Given the description of an element on the screen output the (x, y) to click on. 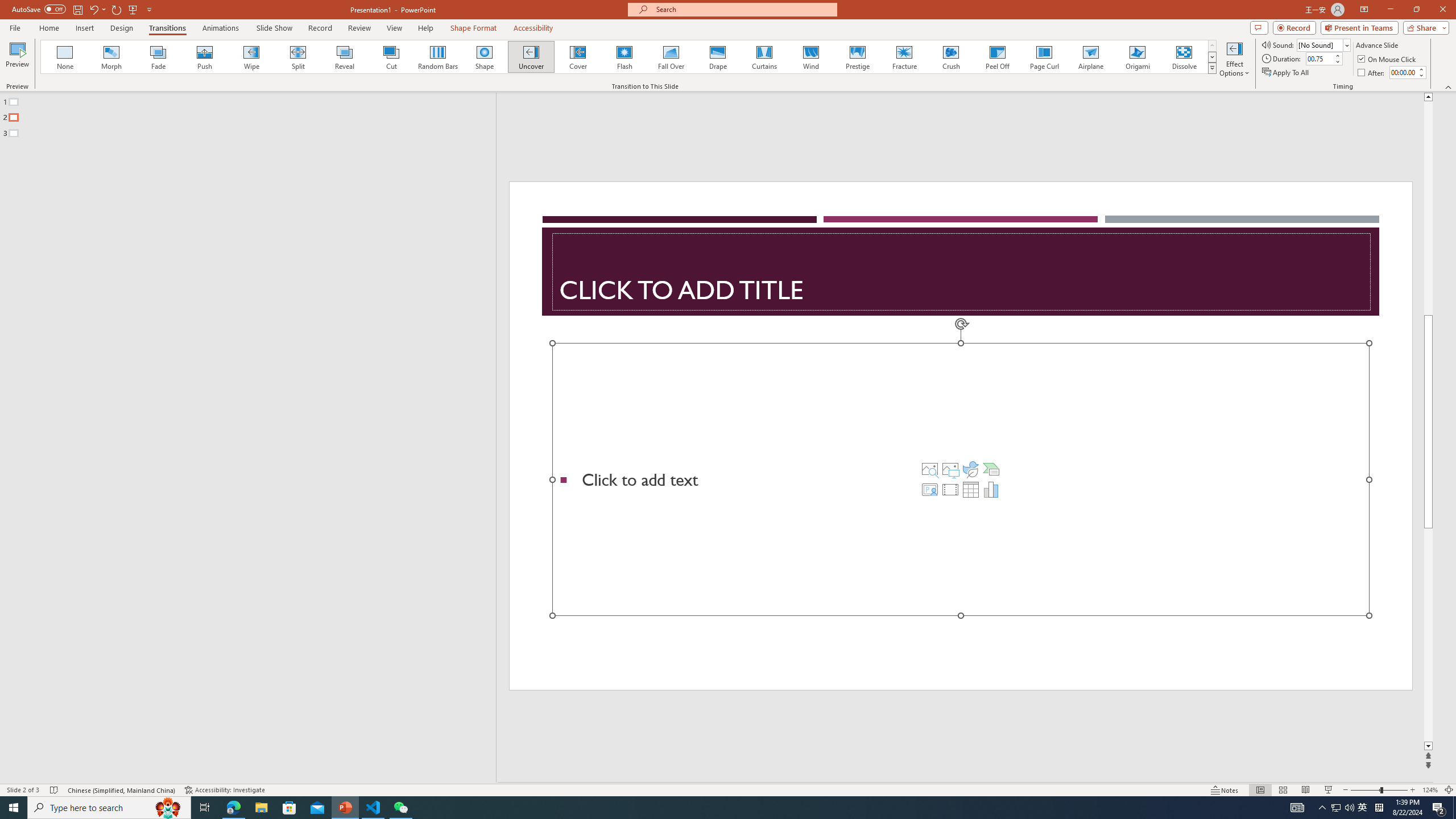
Random Bars (437, 56)
Transition Effects (1212, 67)
Morph (111, 56)
Apply To All (1286, 72)
Fall Over (670, 56)
Insert a SmartArt Graphic (991, 469)
Sound (1324, 44)
